Given the description of an element on the screen output the (x, y) to click on. 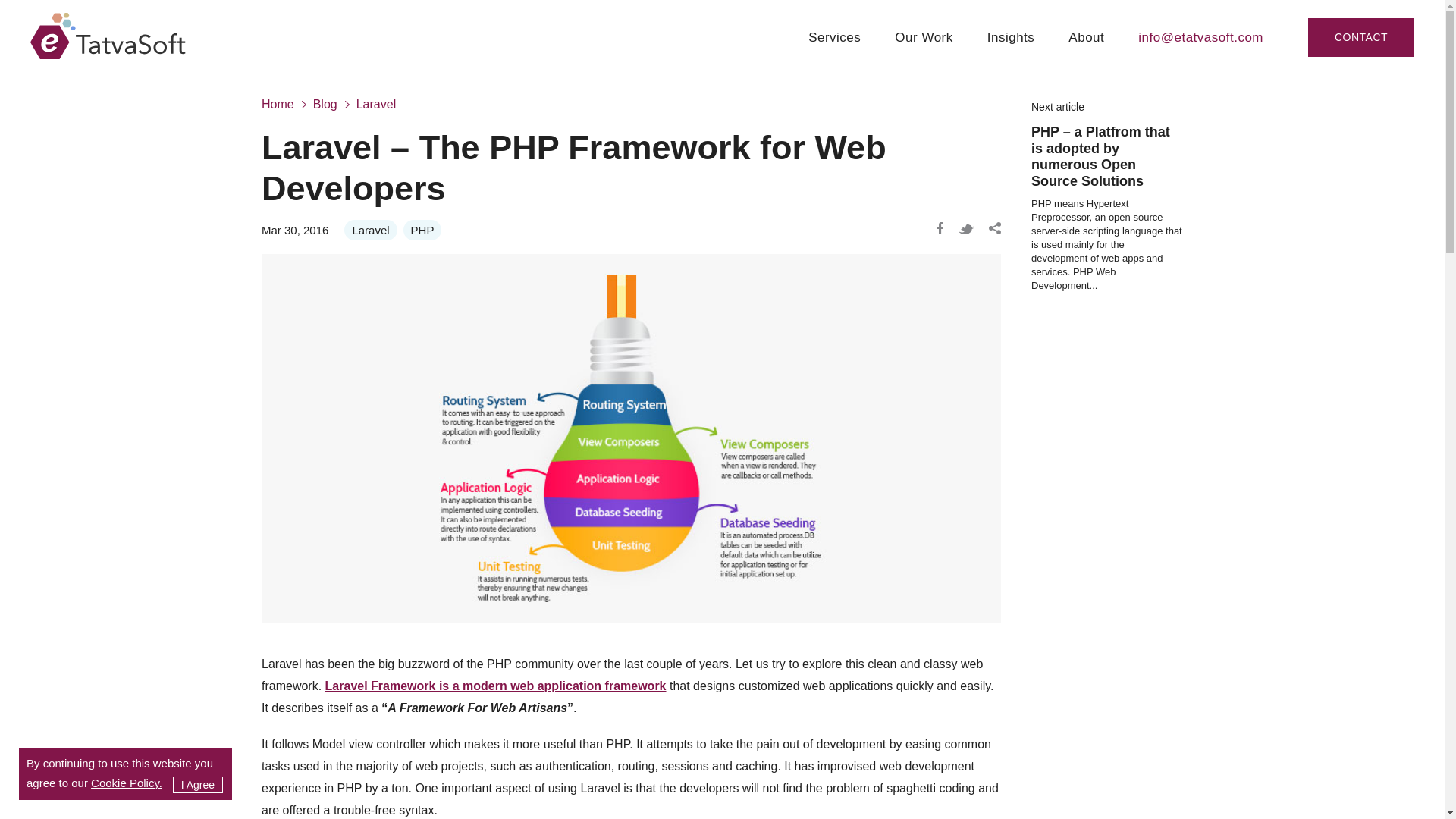
Cookie Policy (125, 782)
Contact (1360, 37)
Services (834, 51)
Blog (332, 104)
Laravel (383, 104)
Home (285, 104)
Cookie Policy. (125, 782)
Our Work (923, 51)
Laravel (369, 230)
eTatvaSoft (108, 38)
CONTACT (1360, 37)
Services (834, 51)
I Agree (197, 784)
Insights (1011, 51)
Our Work (923, 51)
